Given the description of an element on the screen output the (x, y) to click on. 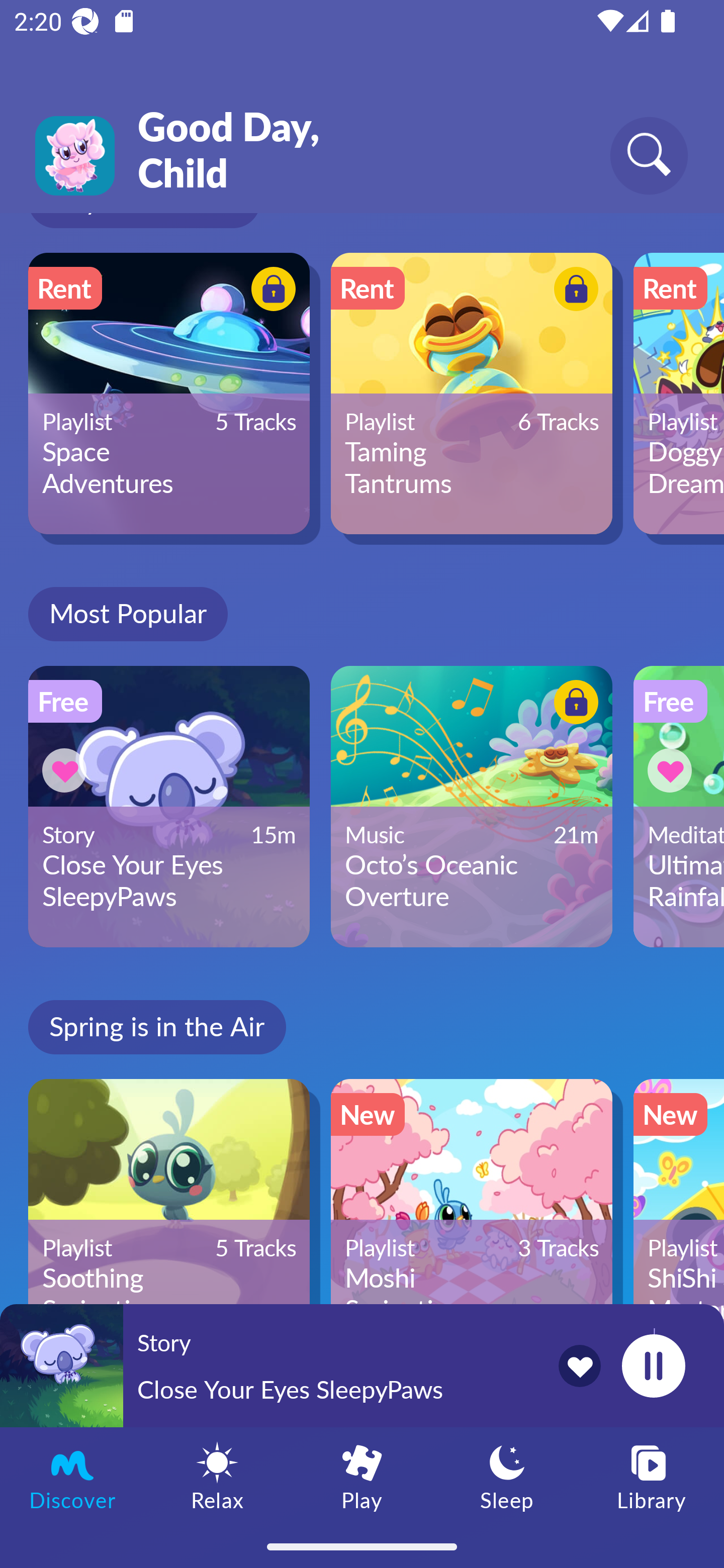
Search (648, 154)
Button (269, 291)
Button (573, 291)
Button (573, 705)
Button (67, 769)
Button (672, 769)
Story Close Your Eyes SleepyPaws 0.004224806 Pause (362, 1365)
0.004224806 Pause (653, 1365)
Relax (216, 1475)
Play (361, 1475)
Sleep (506, 1475)
Library (651, 1475)
